Given the description of an element on the screen output the (x, y) to click on. 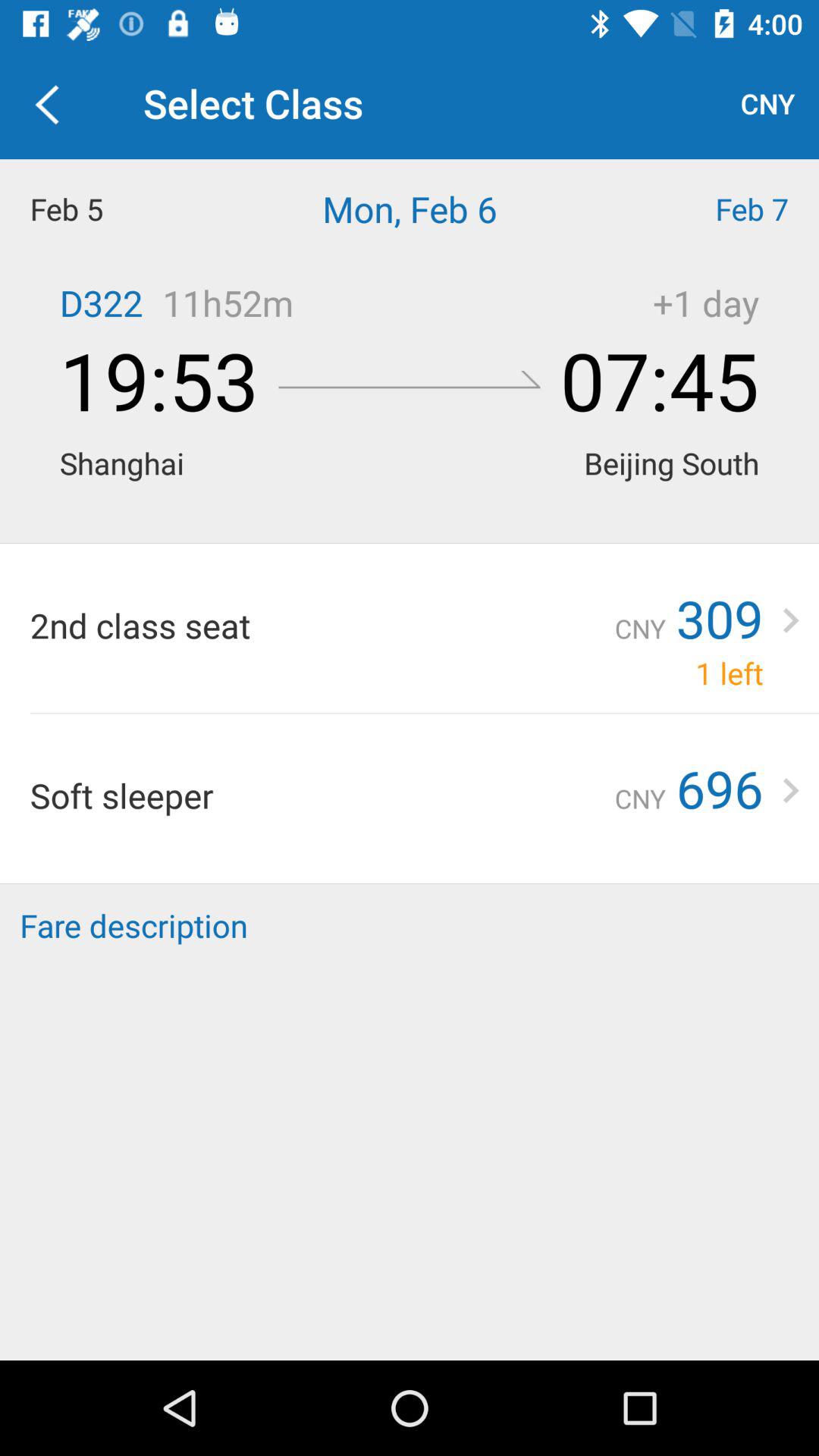
press the icon next to the cny item (729, 672)
